Given the description of an element on the screen output the (x, y) to click on. 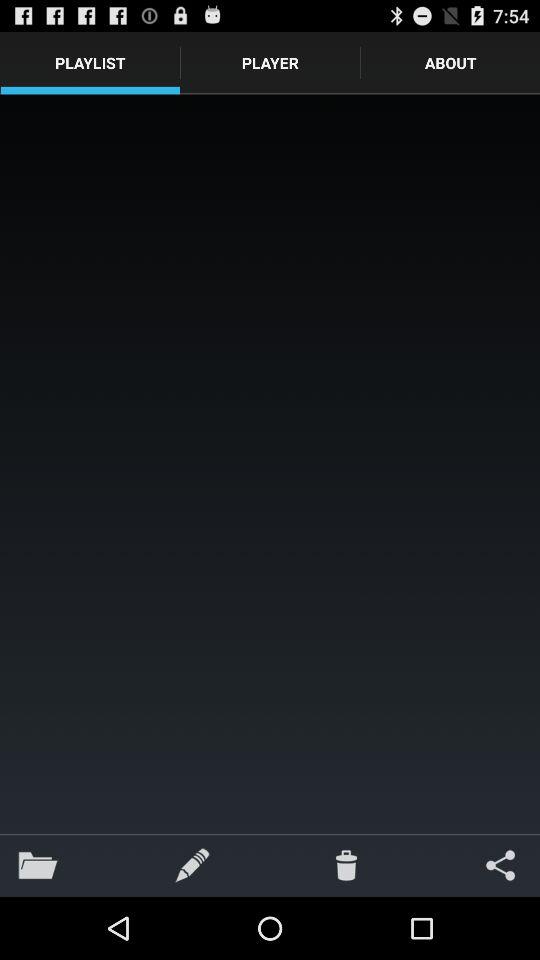
launch icon at the bottom left corner (38, 864)
